Given the description of an element on the screen output the (x, y) to click on. 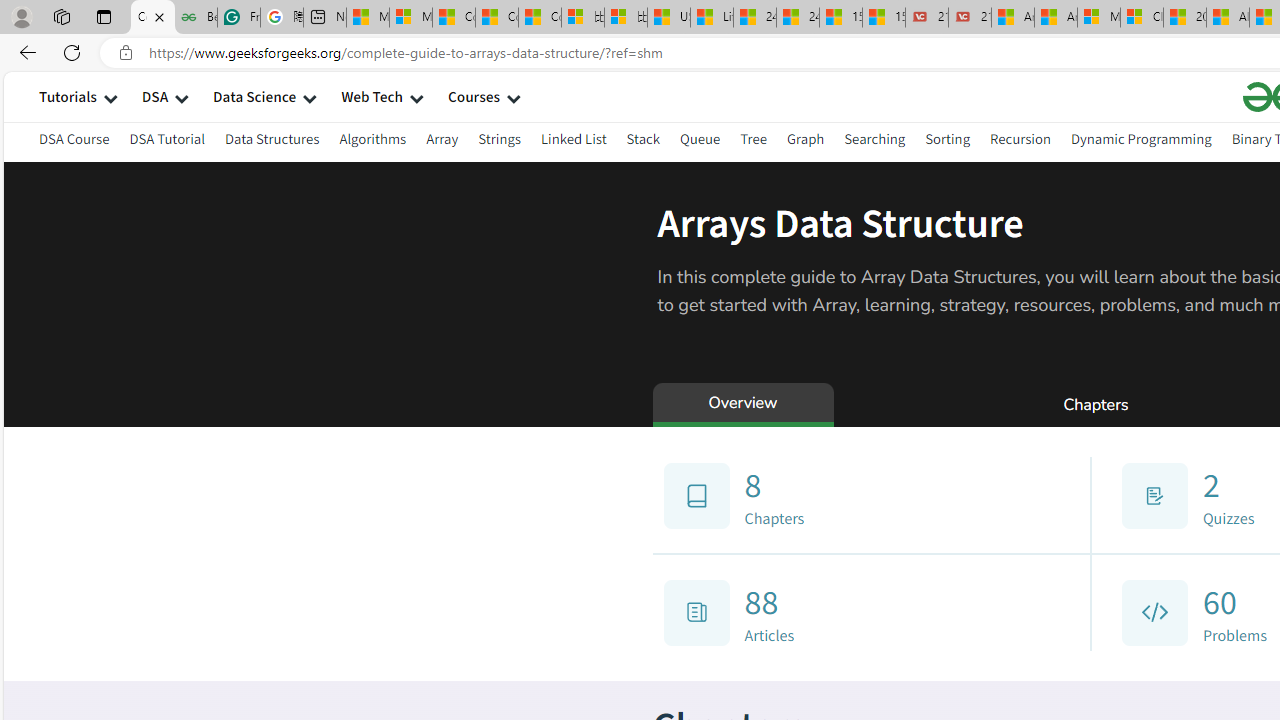
Recursion (1020, 138)
Dynamic Programming (1140, 138)
Searching (875, 138)
Graph (804, 142)
Complete Guide to Arrays Data Structure - GeeksforGeeks (152, 17)
Queue (699, 142)
Data Structures (271, 138)
15 Ways Modern Life Contradicts the Teachings of Jesus (883, 17)
Queue (699, 138)
Array (442, 142)
Recursion (1020, 142)
21 Movies That Outdid the Books They Were Based On (969, 17)
